Given the description of an element on the screen output the (x, y) to click on. 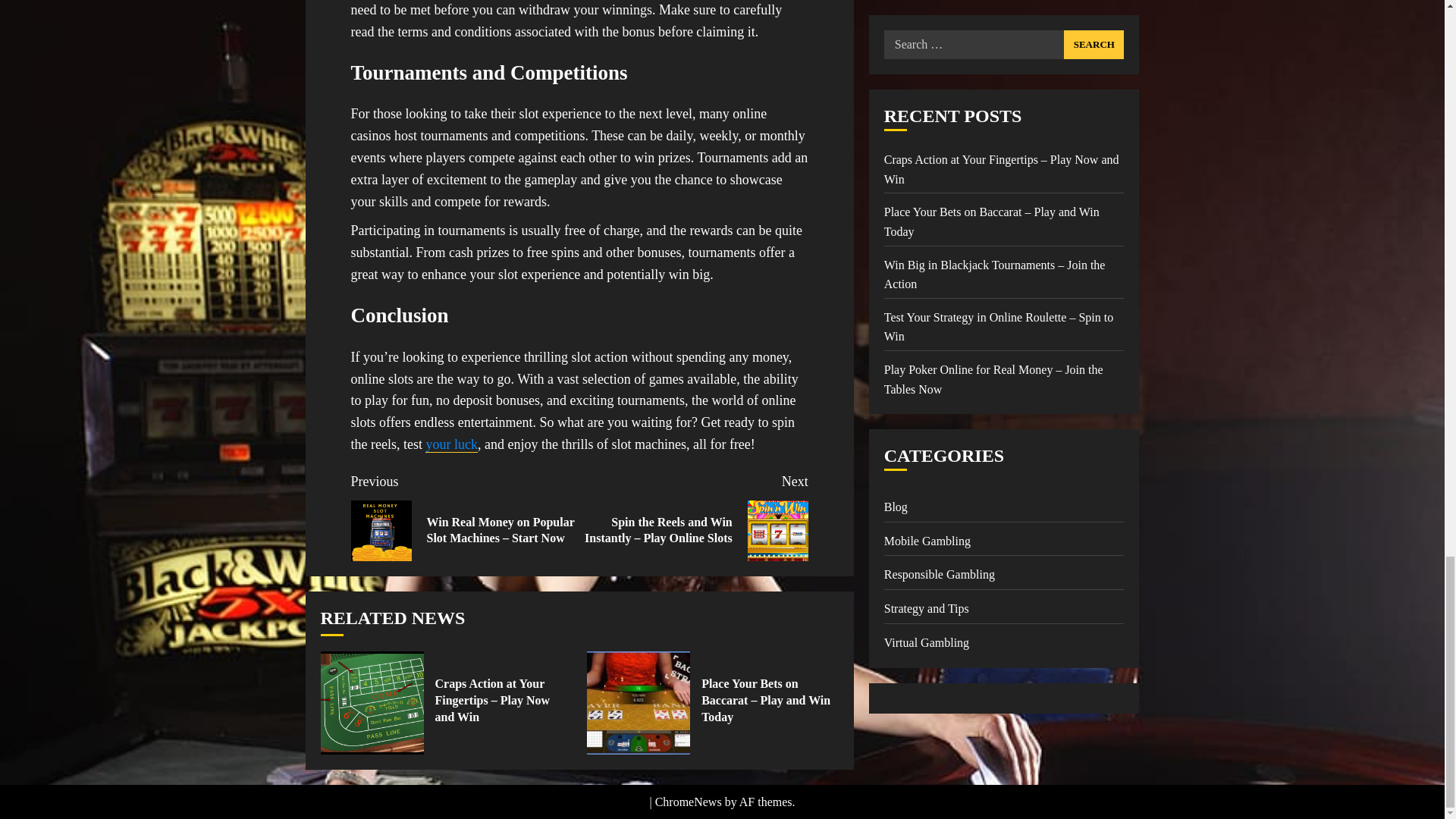
ChromeNews (688, 801)
your luck (451, 444)
